Given the description of an element on the screen output the (x, y) to click on. 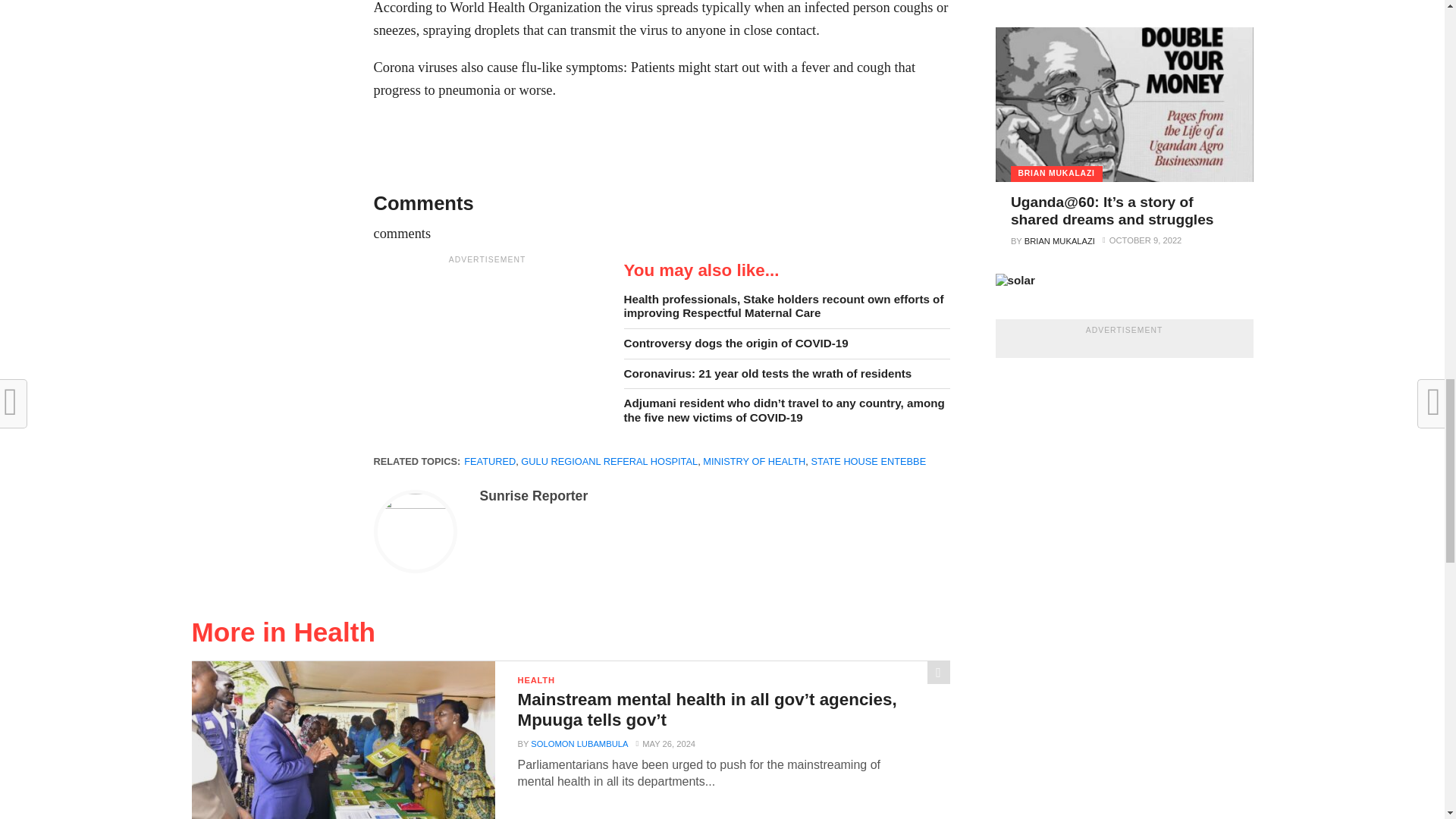
Posts by Solomon Lubambula (579, 743)
Posts by Sunrise Reporter (533, 495)
